Given the description of an element on the screen output the (x, y) to click on. 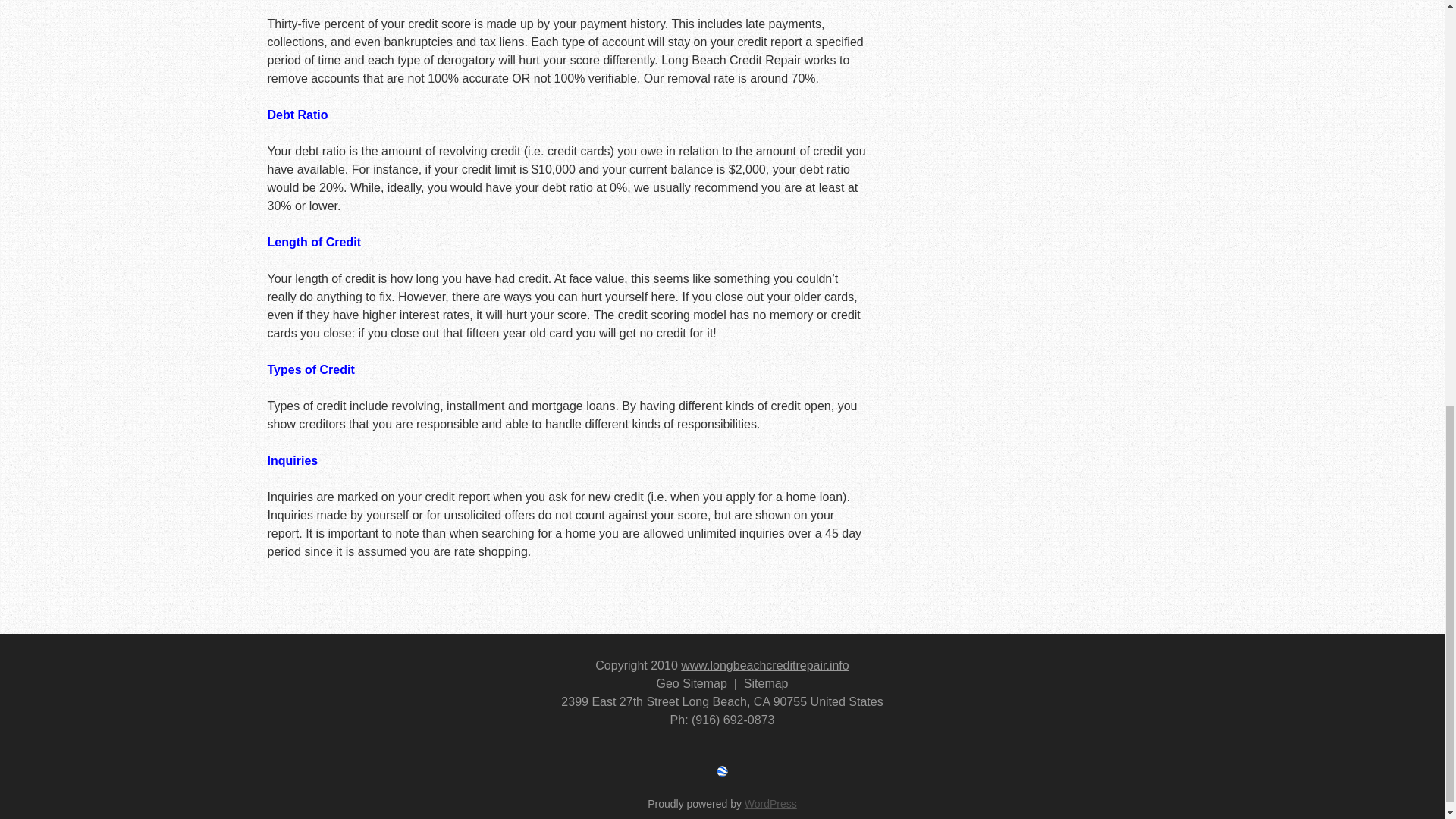
Semantic Personal Publishing Platform (770, 803)
www.longbeachcreditrepair.info (764, 665)
Sitemap (766, 683)
WordPress (770, 803)
Geo Sitemap (691, 683)
